Given the description of an element on the screen output the (x, y) to click on. 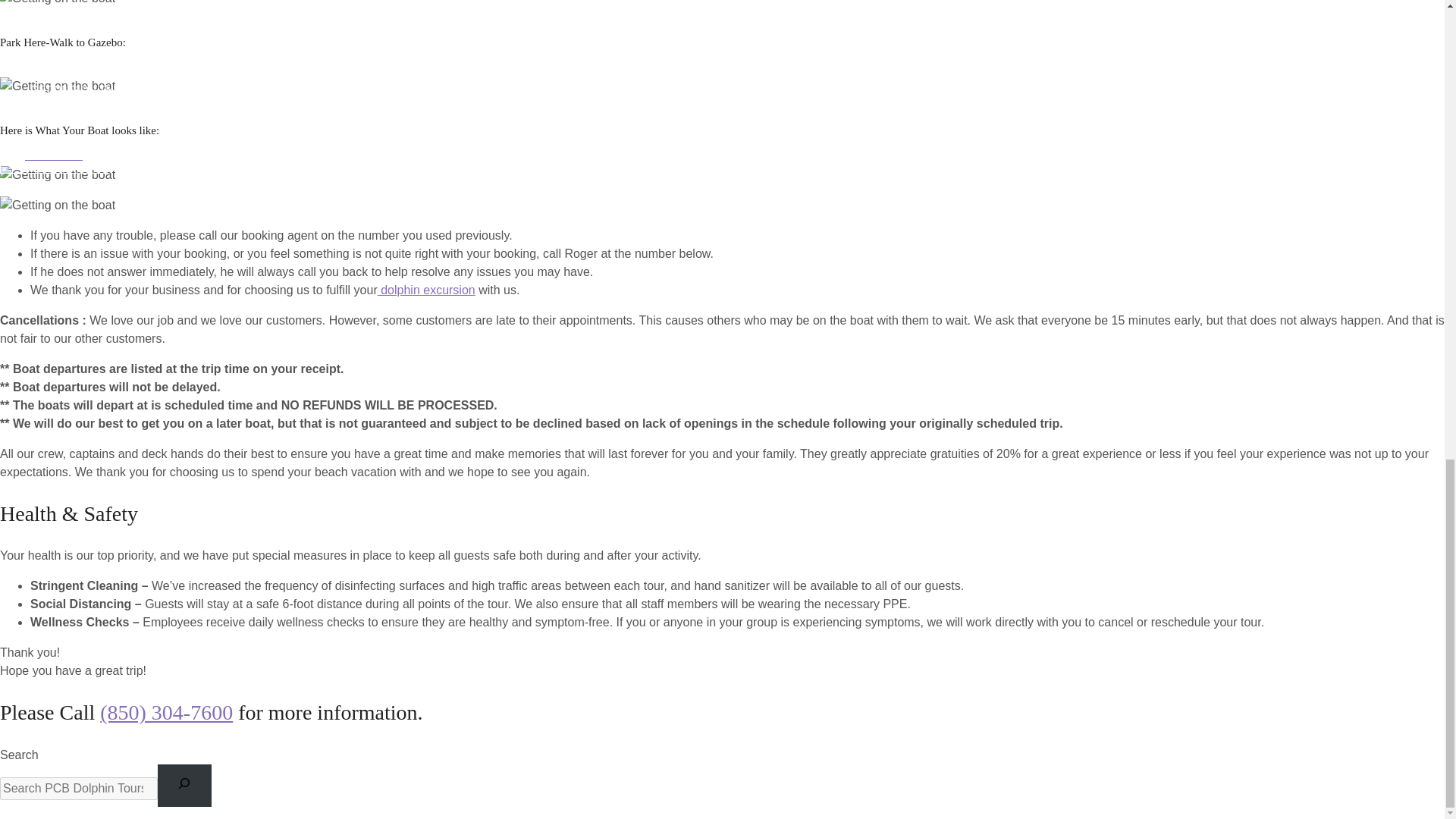
HISTORIC ST. ANDREWS (130, 576)
LAGUNA BEACH (130, 764)
GULF LAGOON BEACH (130, 427)
CARL GREY PARK (130, 239)
INLET BEACH (130, 688)
2 HOURS PRIVATE DOLPHIN AND SNORKELING TOURS UP TO 6 PEOPLE (130, 33)
C.S.S YACHT BASIN (130, 26)
DOLPHIN BOAT RAMP (130, 314)
